Given the description of an element on the screen output the (x, y) to click on. 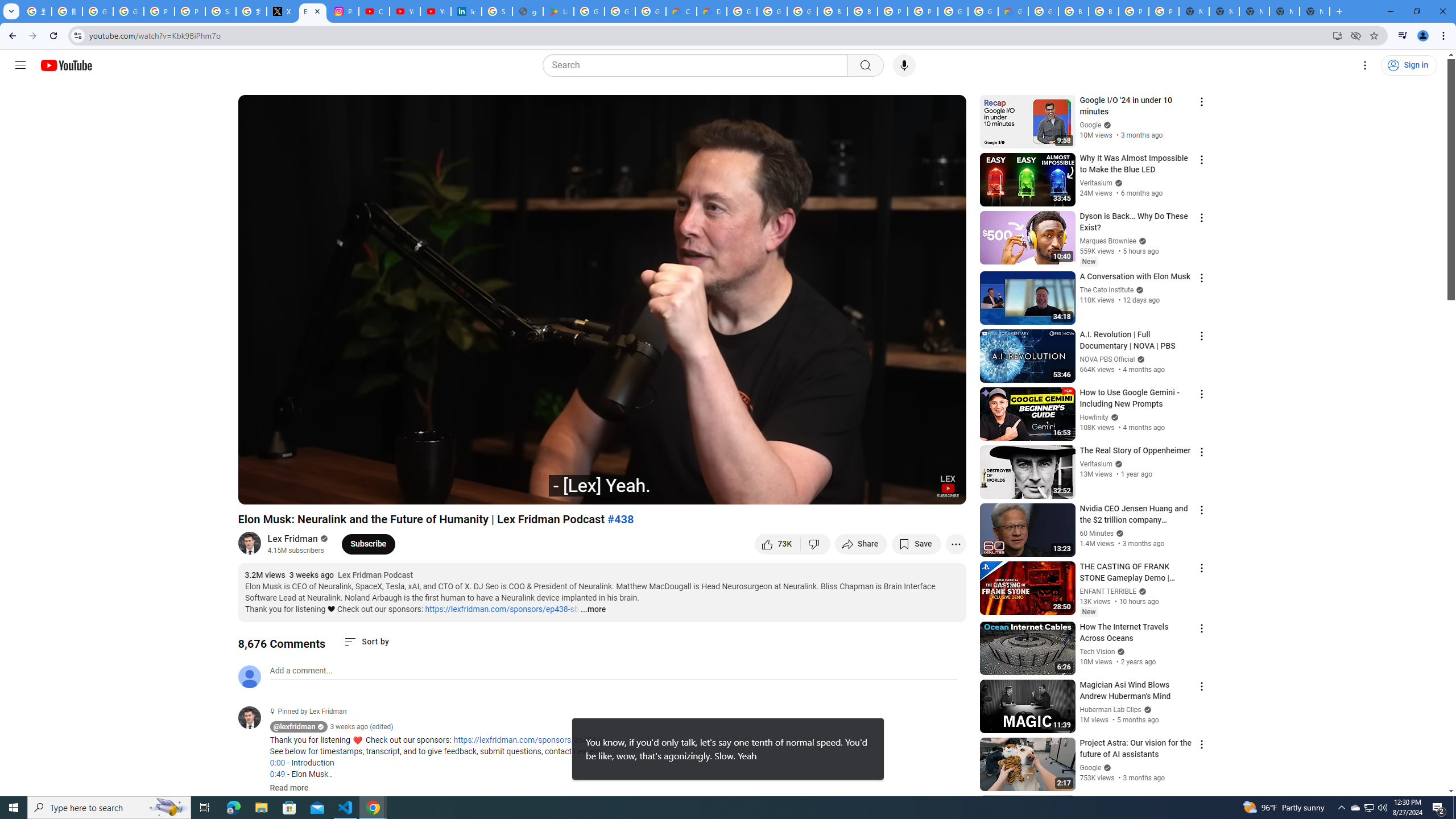
Lex Fridman (292, 538)
Search with your voice (903, 65)
google_privacy_policy_en.pdf (527, 11)
Sign in - Google Accounts (220, 11)
YouTube Culture & Trends - YouTube Top 10, 2021 (434, 11)
Privacy Help Center - Policies Help (158, 11)
More actions (955, 543)
Telepathy (402, 490)
